Given the description of an element on the screen output the (x, y) to click on. 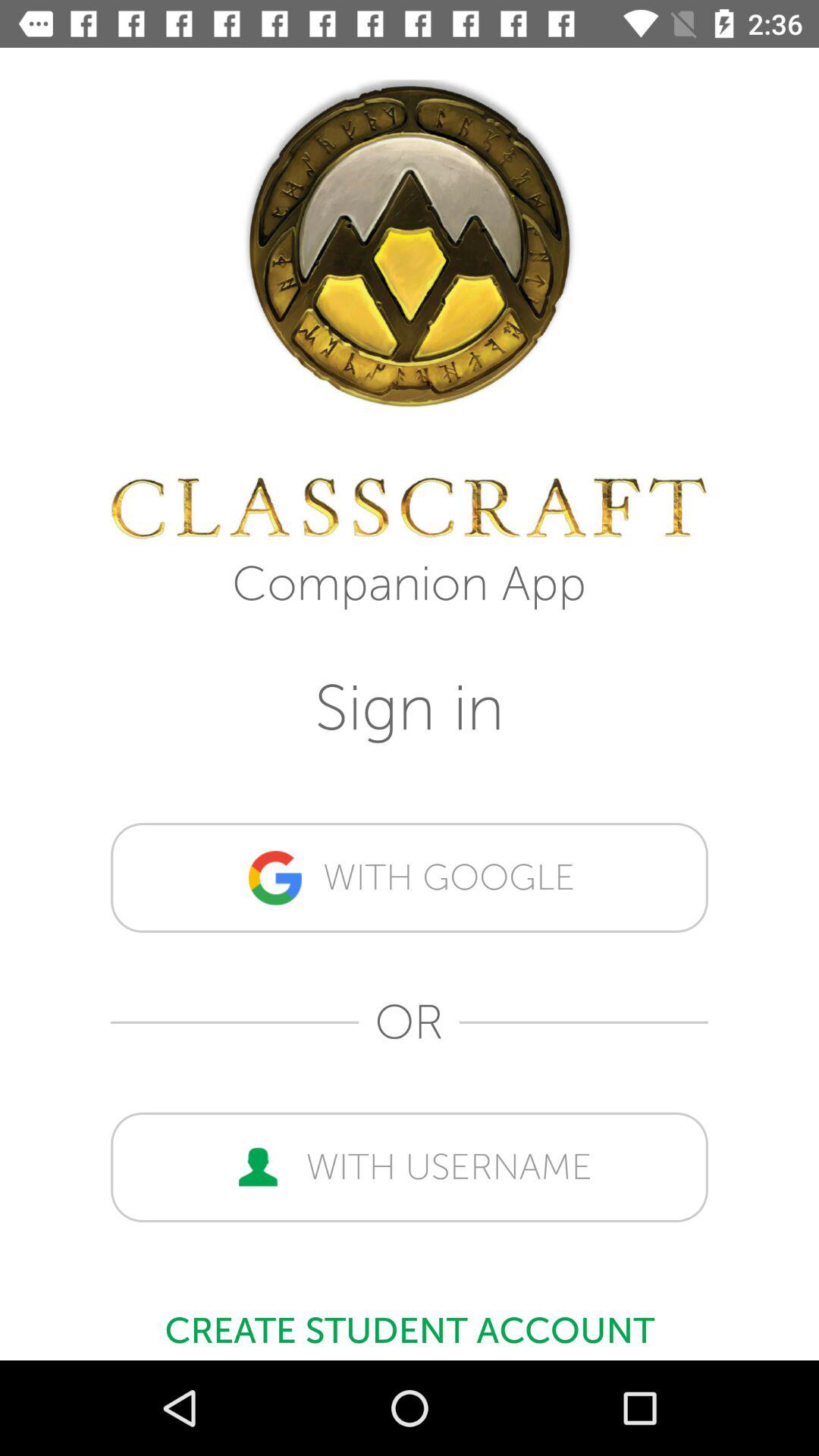
turn off icon below with username icon (409, 1322)
